Given the description of an element on the screen output the (x, y) to click on. 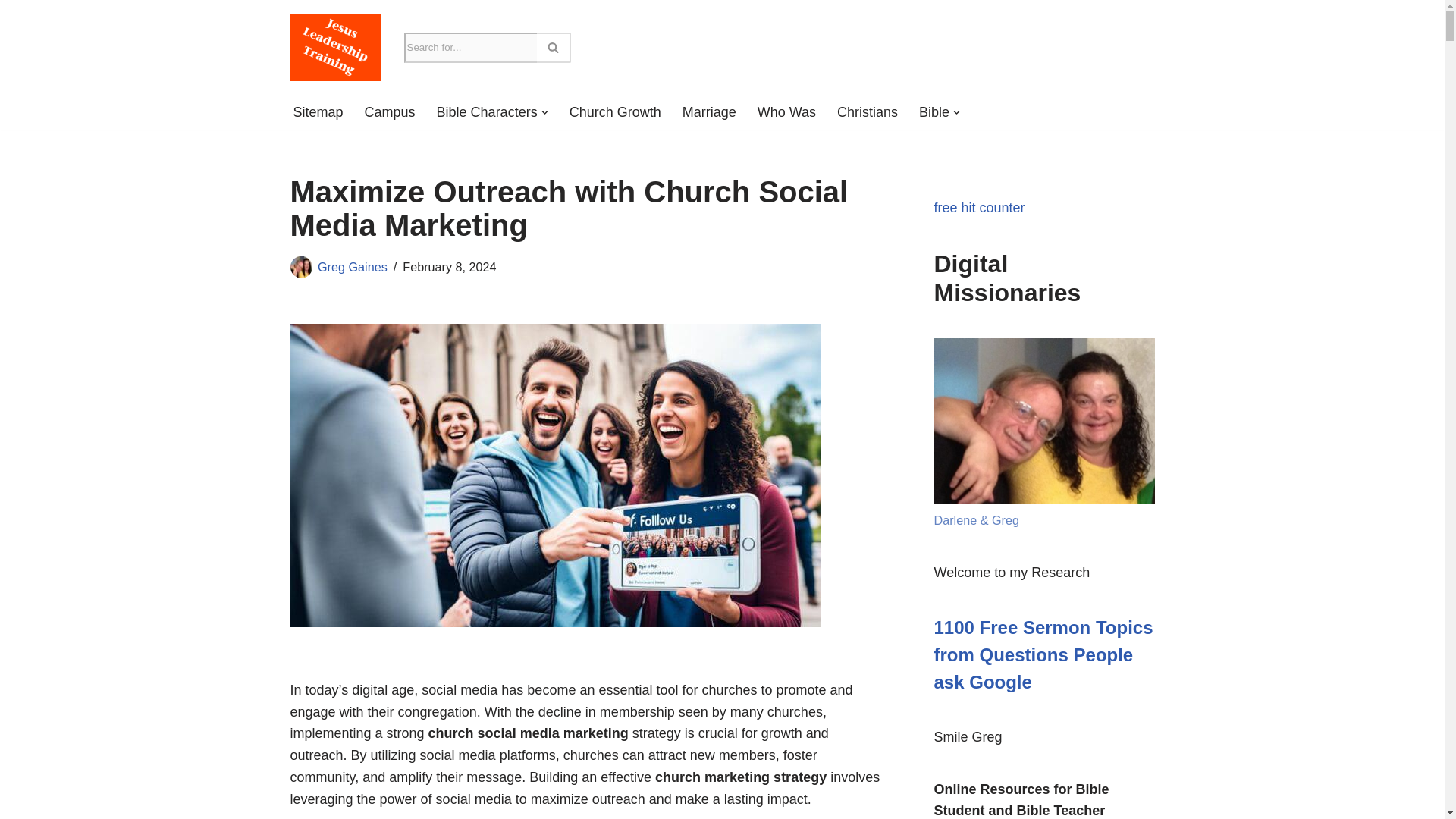
Skip to content (11, 31)
Church Growth (615, 111)
Campus (389, 111)
Sitemap (317, 111)
Marriage (709, 111)
Bible (933, 111)
Posts by Greg Gaines (352, 266)
Bible Characters (486, 111)
Christians (867, 111)
Who Was (786, 111)
